Given the description of an element on the screen output the (x, y) to click on. 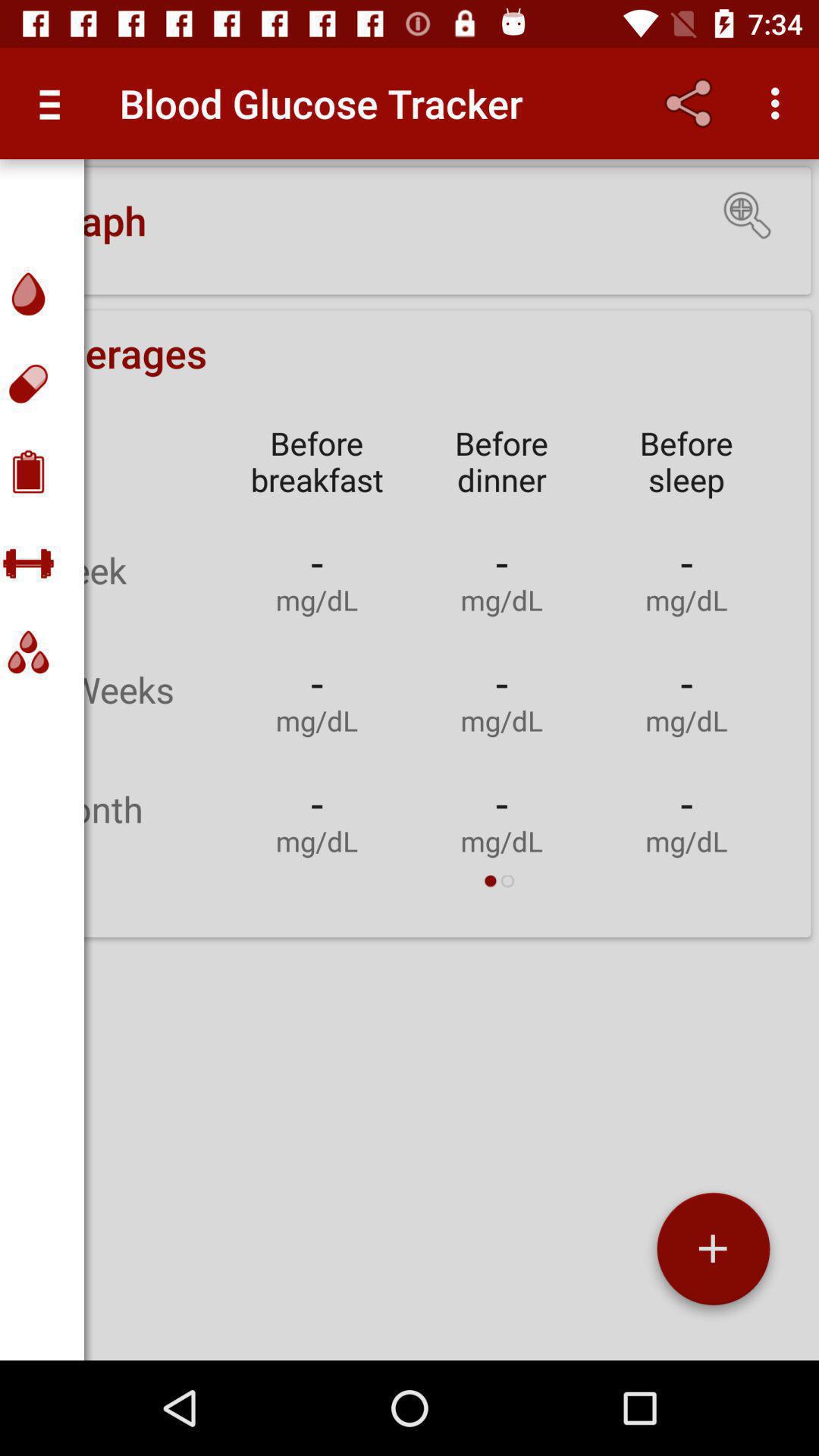
add option (713, 1254)
